Given the description of an element on the screen output the (x, y) to click on. 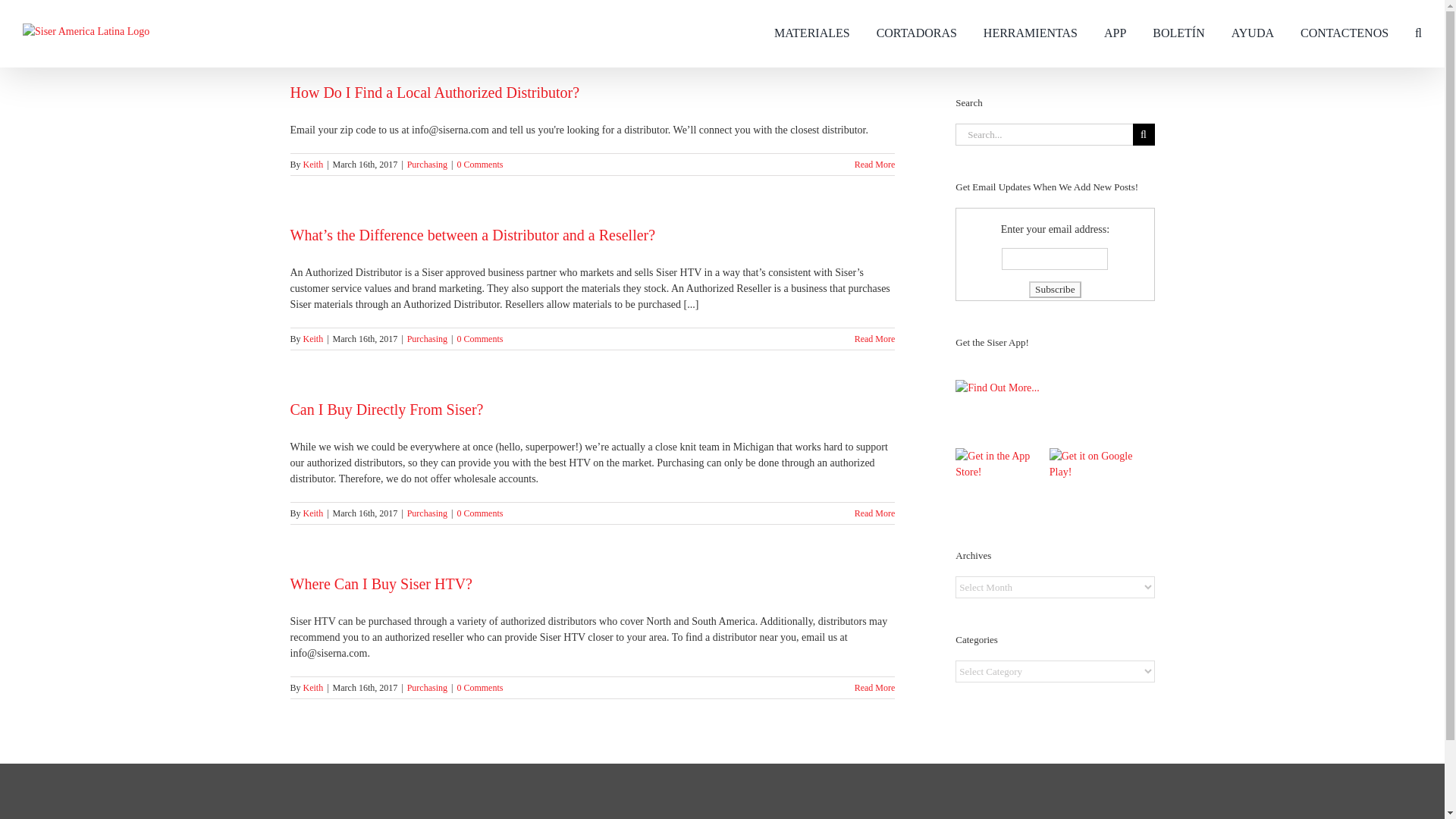
Subscribe (1055, 289)
Posts by Keith (312, 338)
Posts by Keith (312, 687)
Posts by Keith (312, 163)
Posts by Keith (312, 512)
MATERIALES (812, 31)
